Given the description of an element on the screen output the (x, y) to click on. 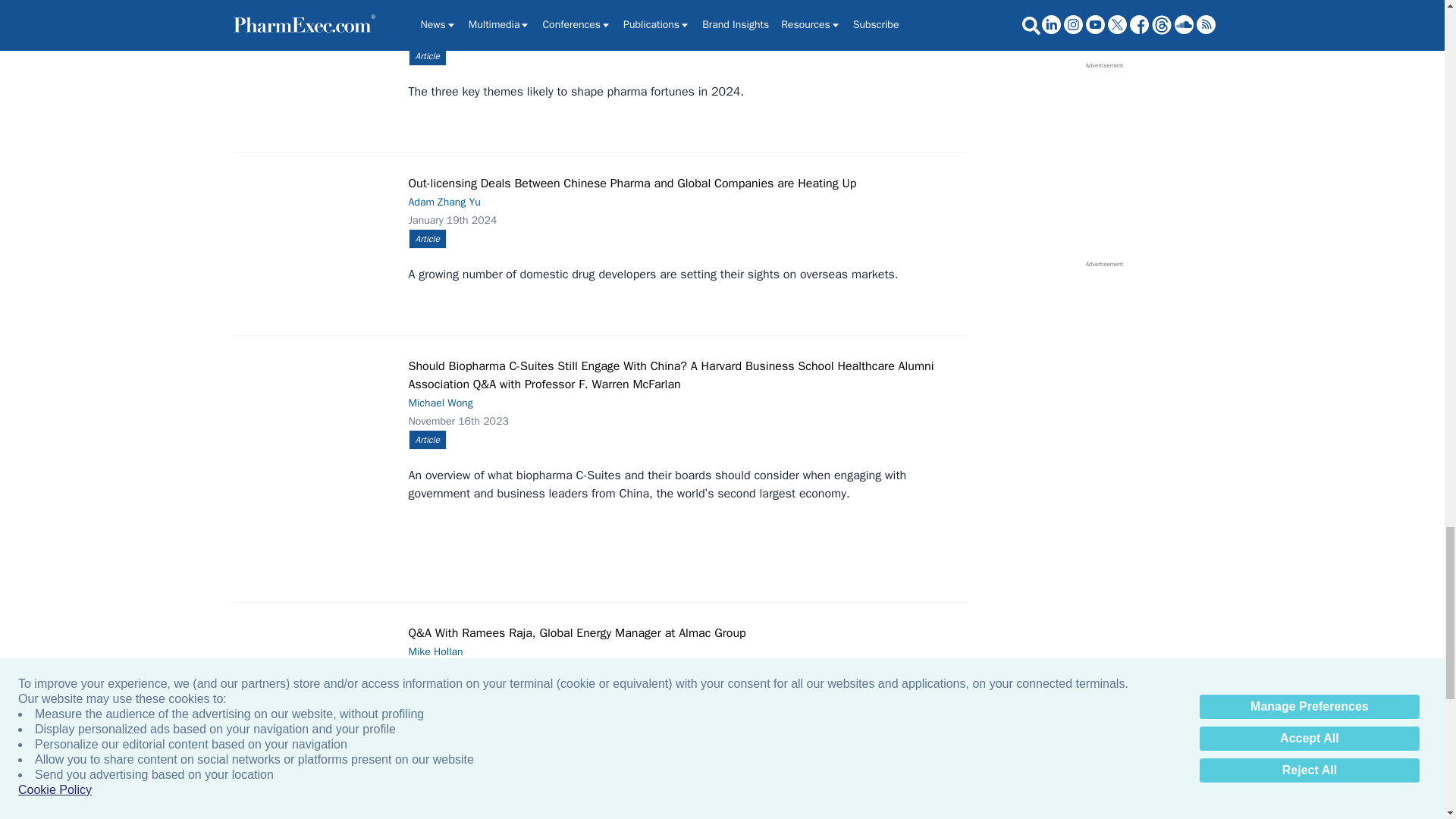
Ramees Raja (317, 670)
Adam Zhang (317, 221)
Bruce Liu (317, 39)
Bruce Liu (317, 816)
